Given the description of an element on the screen output the (x, y) to click on. 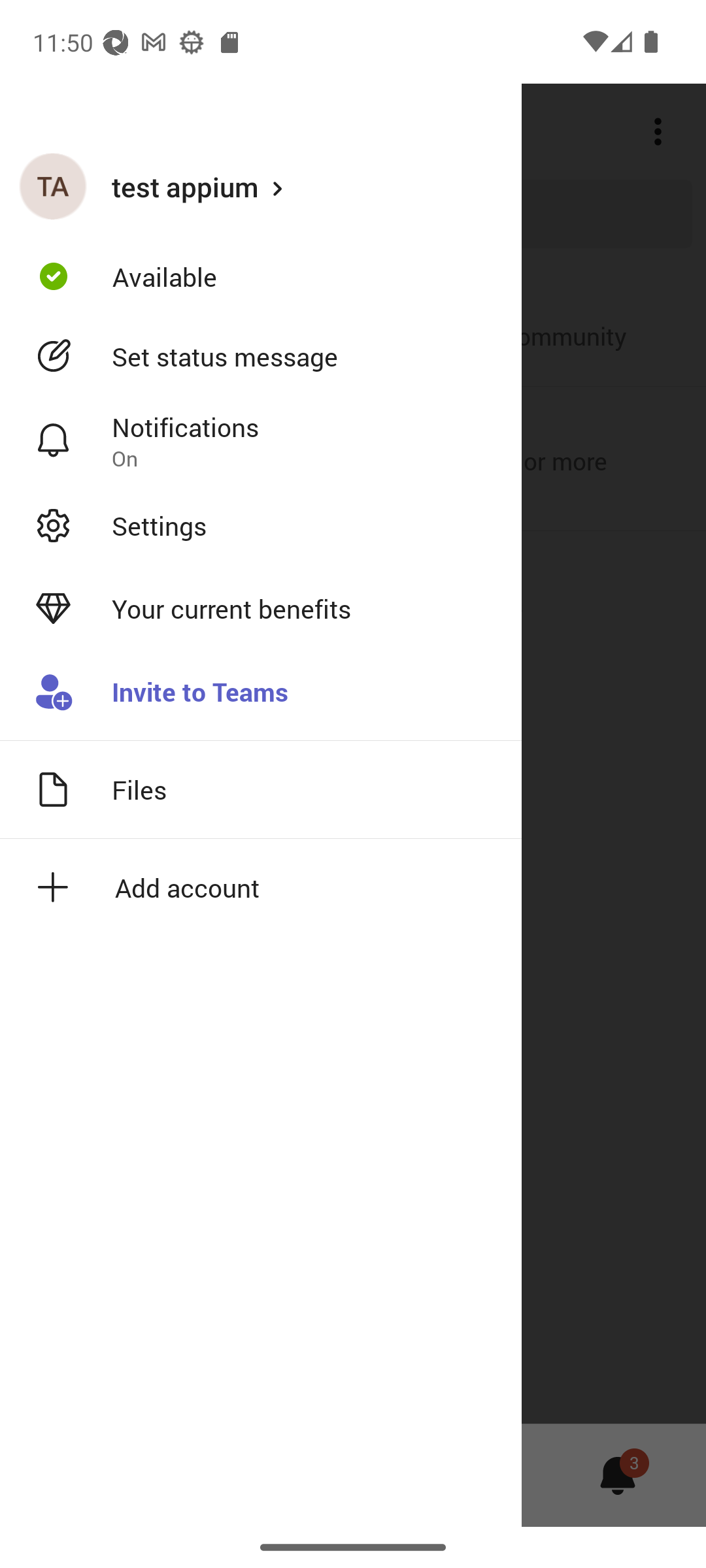
test appium (260, 186)
test appium profile picture (53, 186)
Notifications Notification settings On (260, 441)
Settings Open settings (260, 525)
Your current benefits (260, 608)
Invite to Teams Invite someone to your Teams org (260, 691)
Files (260, 789)
Add account icon Add account (260, 887)
